Given the description of an element on the screen output the (x, y) to click on. 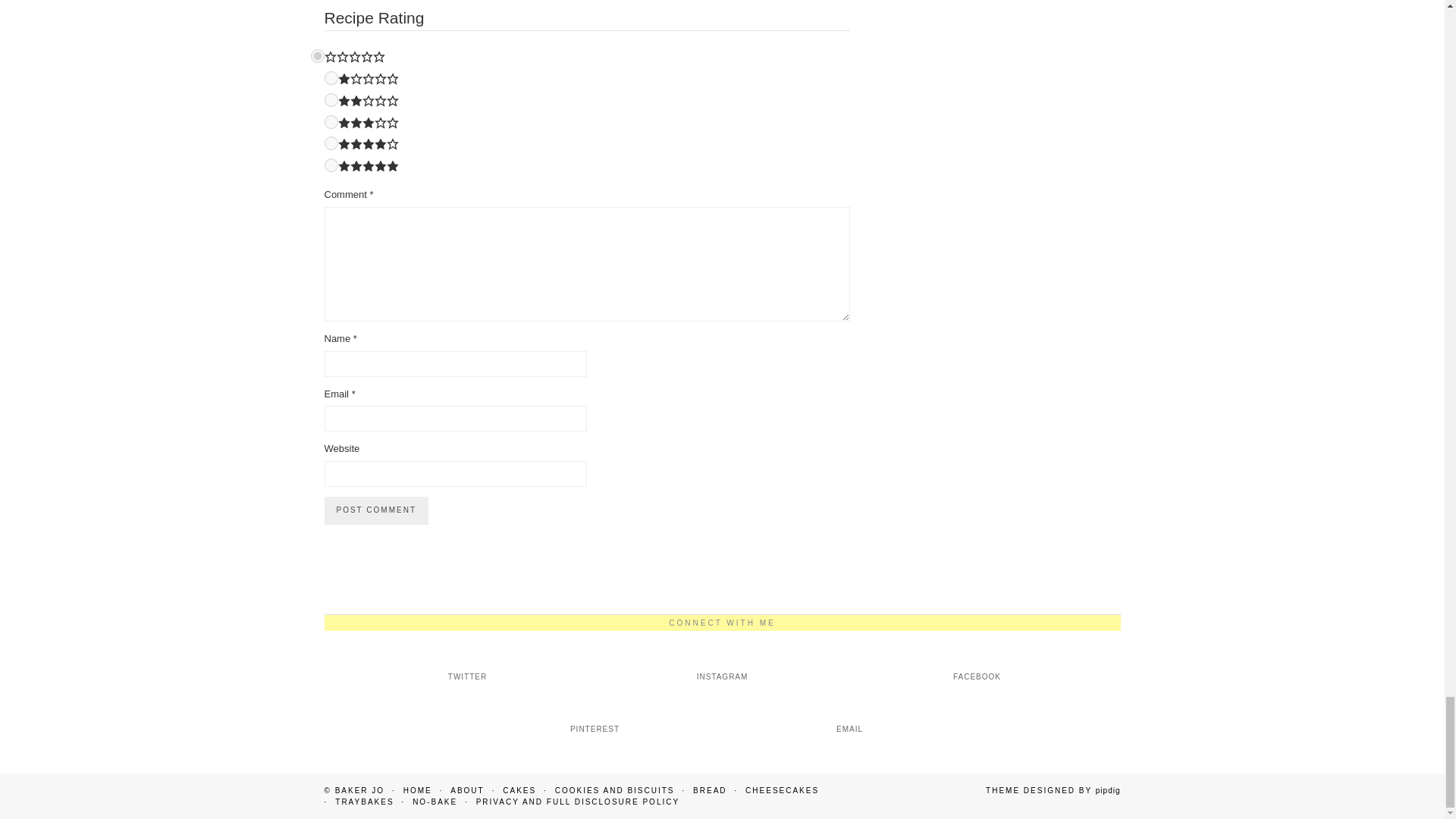
1 (330, 78)
4 (330, 142)
0 (317, 56)
5 (330, 164)
Post Comment (376, 510)
2 (330, 100)
3 (330, 121)
